Given the description of an element on the screen output the (x, y) to click on. 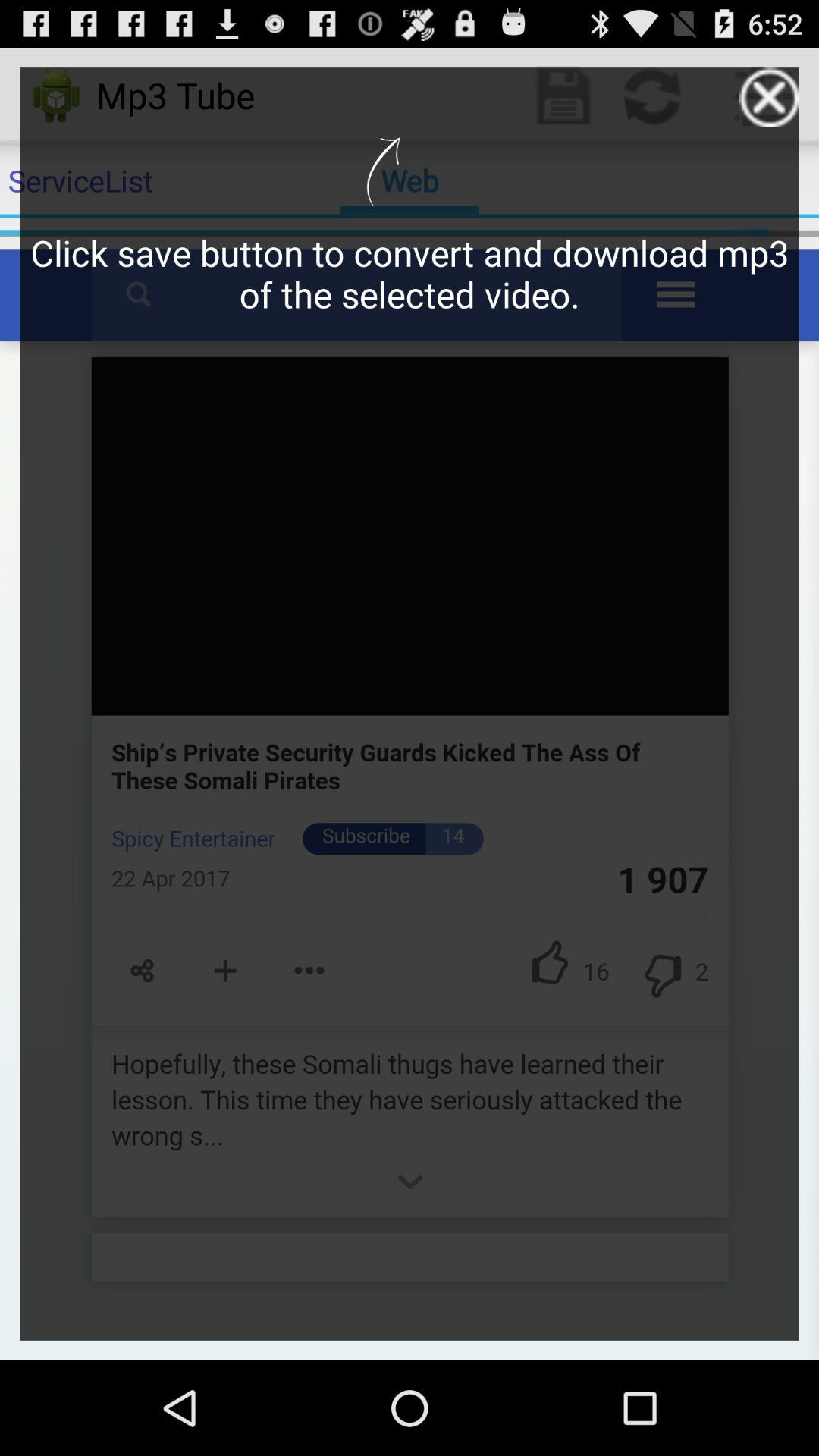
toggle the close option (769, 97)
